Given the description of an element on the screen output the (x, y) to click on. 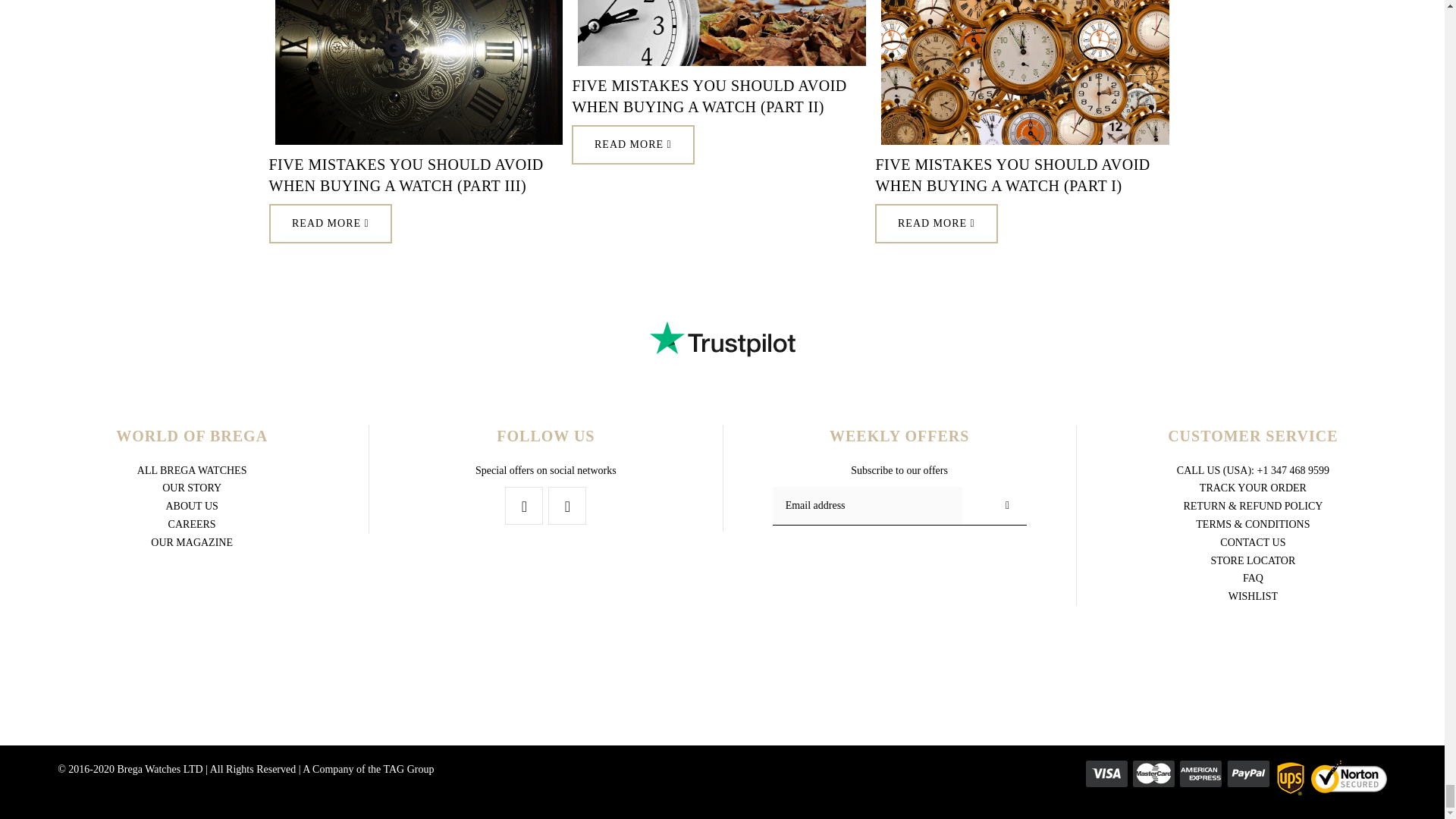
Customer reviews powered by Trustpilot (721, 339)
Instagram (567, 505)
Facebook (524, 505)
